Given the description of an element on the screen output the (x, y) to click on. 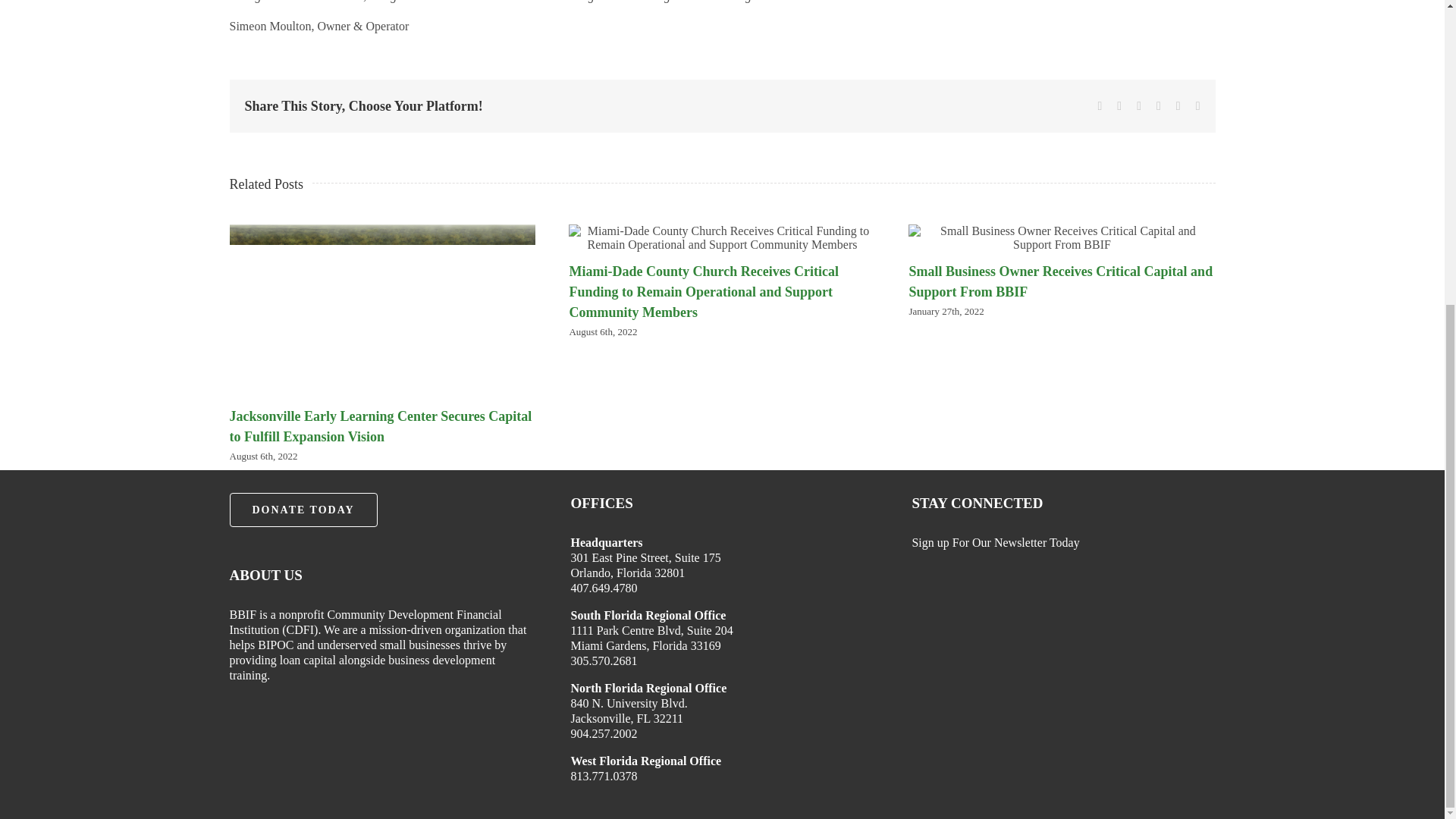
DONATE TODAY (302, 510)
